Given the description of an element on the screen output the (x, y) to click on. 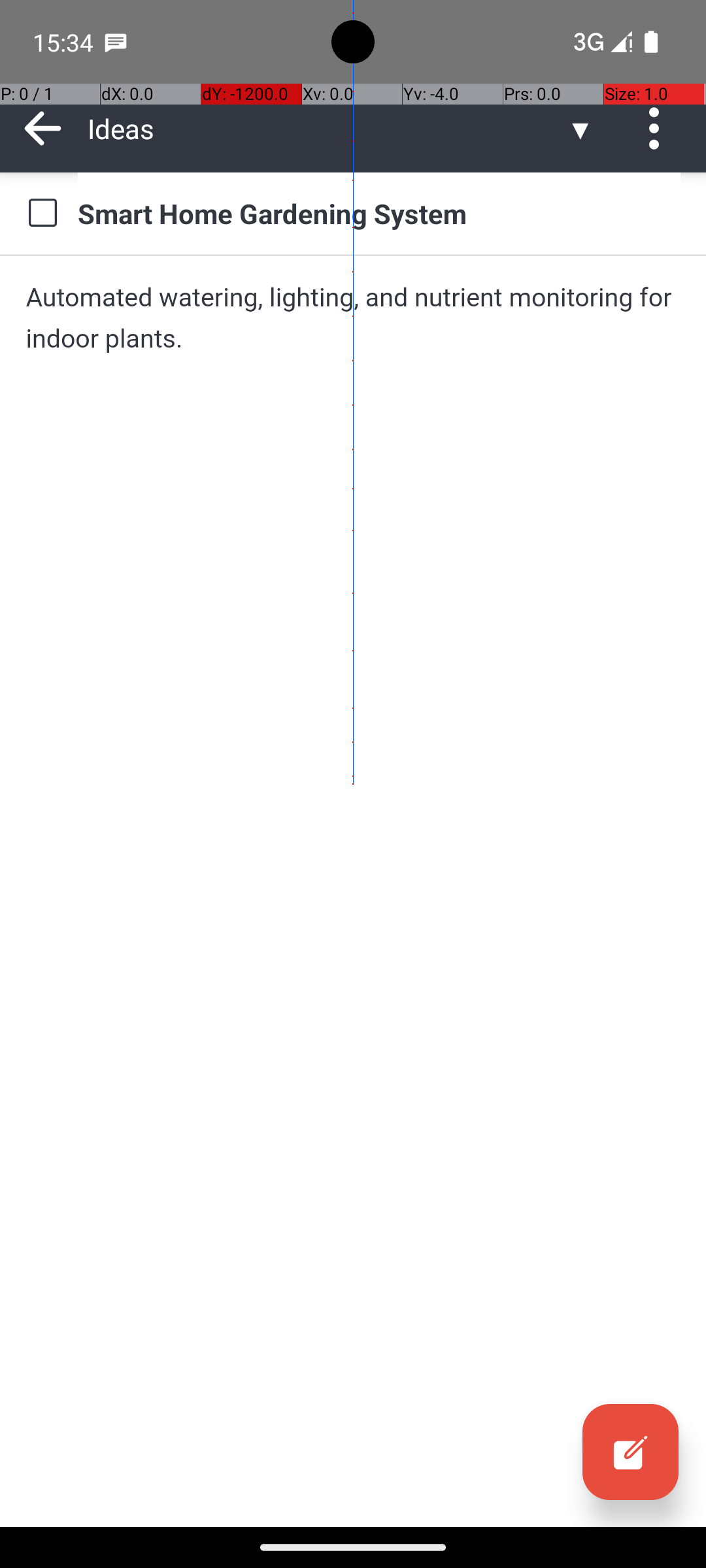
Smart Home Gardening System Element type: android.widget.EditText (378, 213)
Edit, collapsed Element type: android.widget.Button (630, 1452)
 Element type: android.widget.TextView (42, 127)
Ideas Element type: android.widget.TextView (326, 128)
▼ Element type: android.widget.TextView (580, 128)
Actions Element type: android.view.ViewGroup (658, 127)
 Element type: android.widget.TextView (42, 212)
 Element type: android.widget.TextView (630, 1451)
 Element type: android.widget.TextView (658, 127)
Automated watering, lighting, and nutrient monitoring for indoor plants. Element type: android.widget.TextView (352, 317)
SMS Messenger notification: +10214033213 Element type: android.widget.ImageView (115, 41)
